Given the description of an element on the screen output the (x, y) to click on. 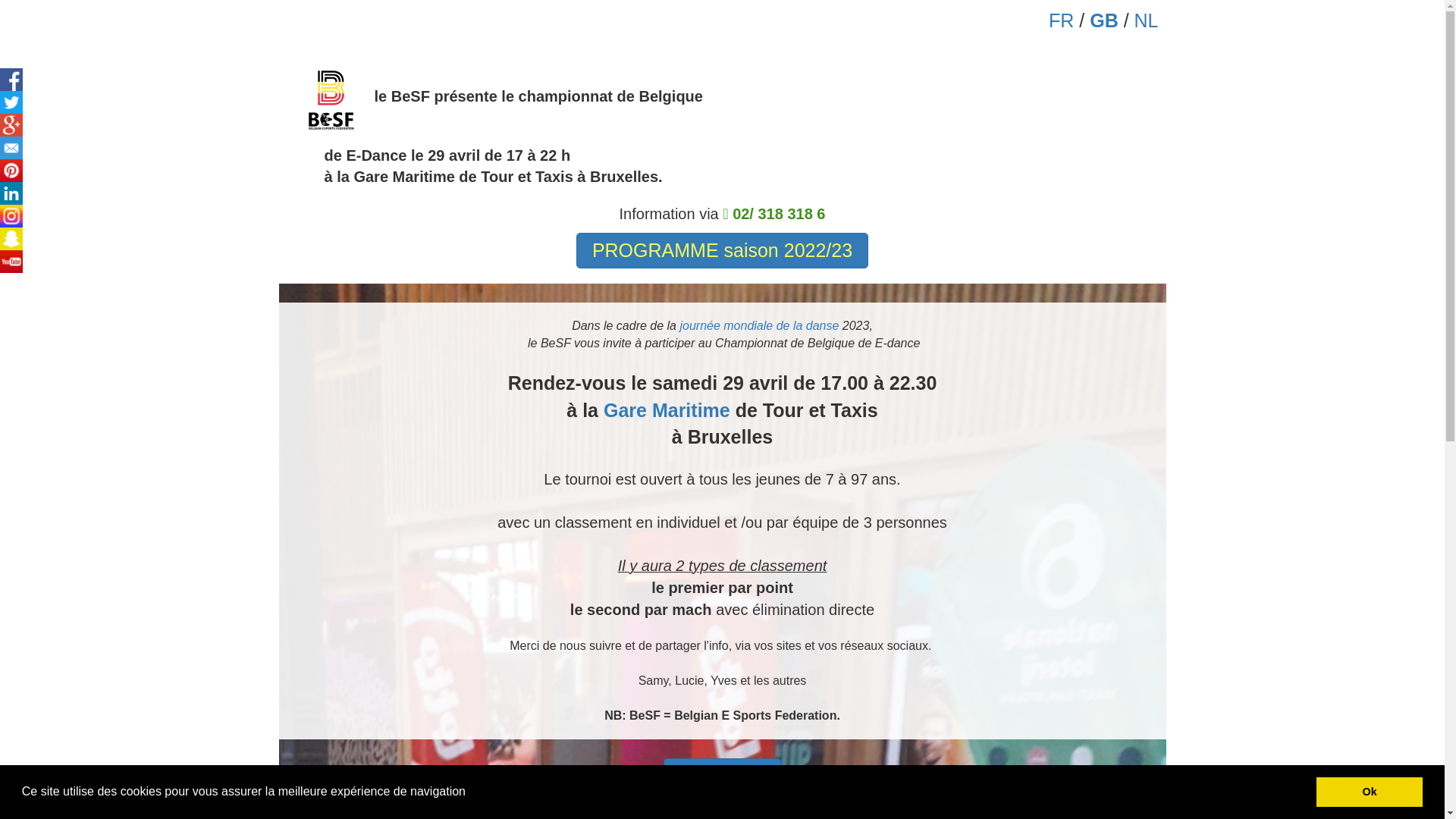
Inscription Element type: text (722, 776)
NL Element type: text (1146, 20)
GB Element type: text (1103, 20)
Gare Maritime Element type: text (666, 409)
PROGRAMME saison 2022/23 Element type: text (722, 250)
Ok Element type: text (1369, 791)
FR Element type: text (1060, 20)
